Given the description of an element on the screen output the (x, y) to click on. 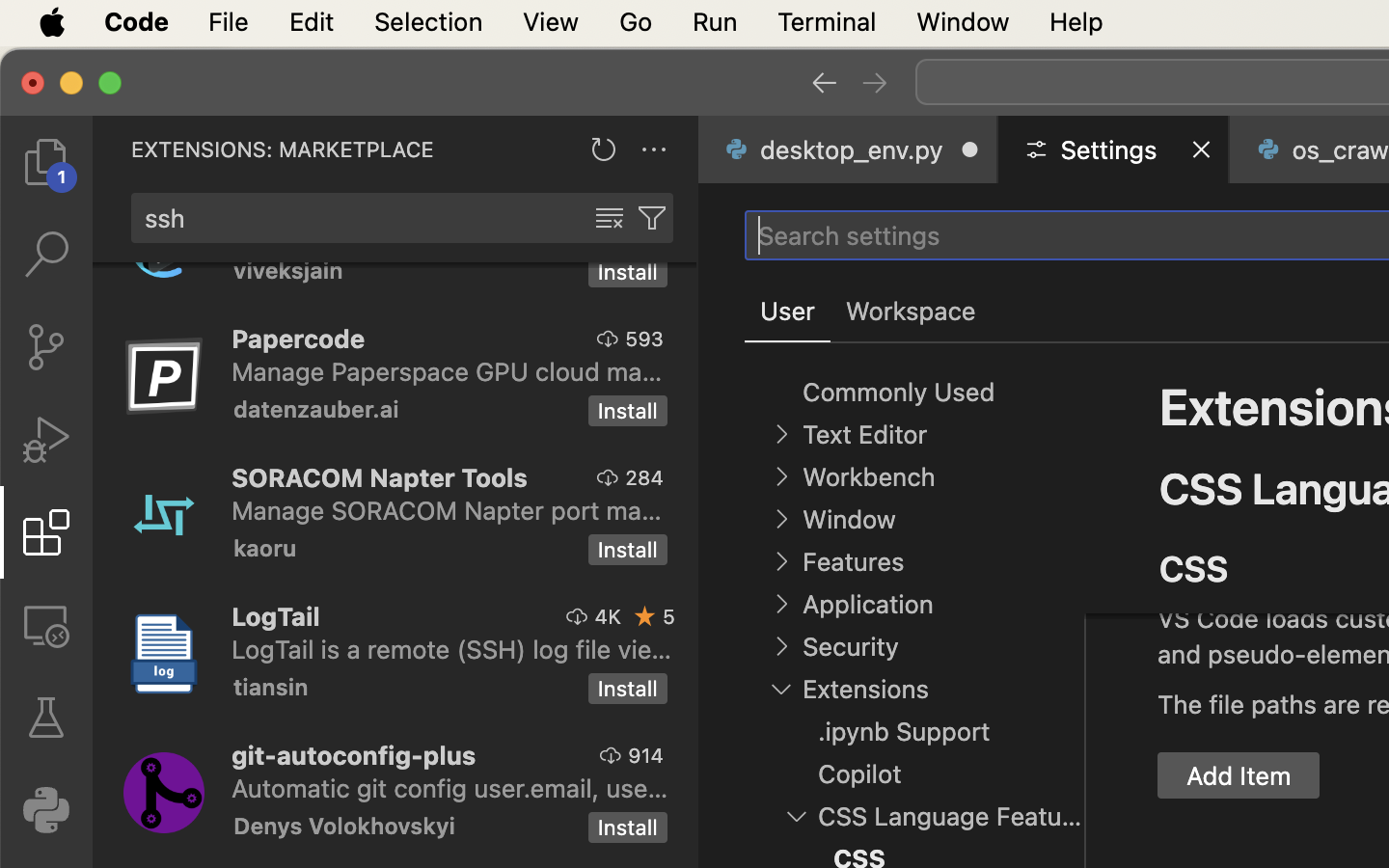
EXTENSIONS: MARKETPLACE Element type: AXStaticText (282, 149)
 Element type: AXButton (874, 82)
Denys Volokhovskyi Element type: AXStaticText (344, 825)
 Element type: AXStaticText (608, 338)
tiansin Element type: AXStaticText (270, 686)
